Given the description of an element on the screen output the (x, y) to click on. 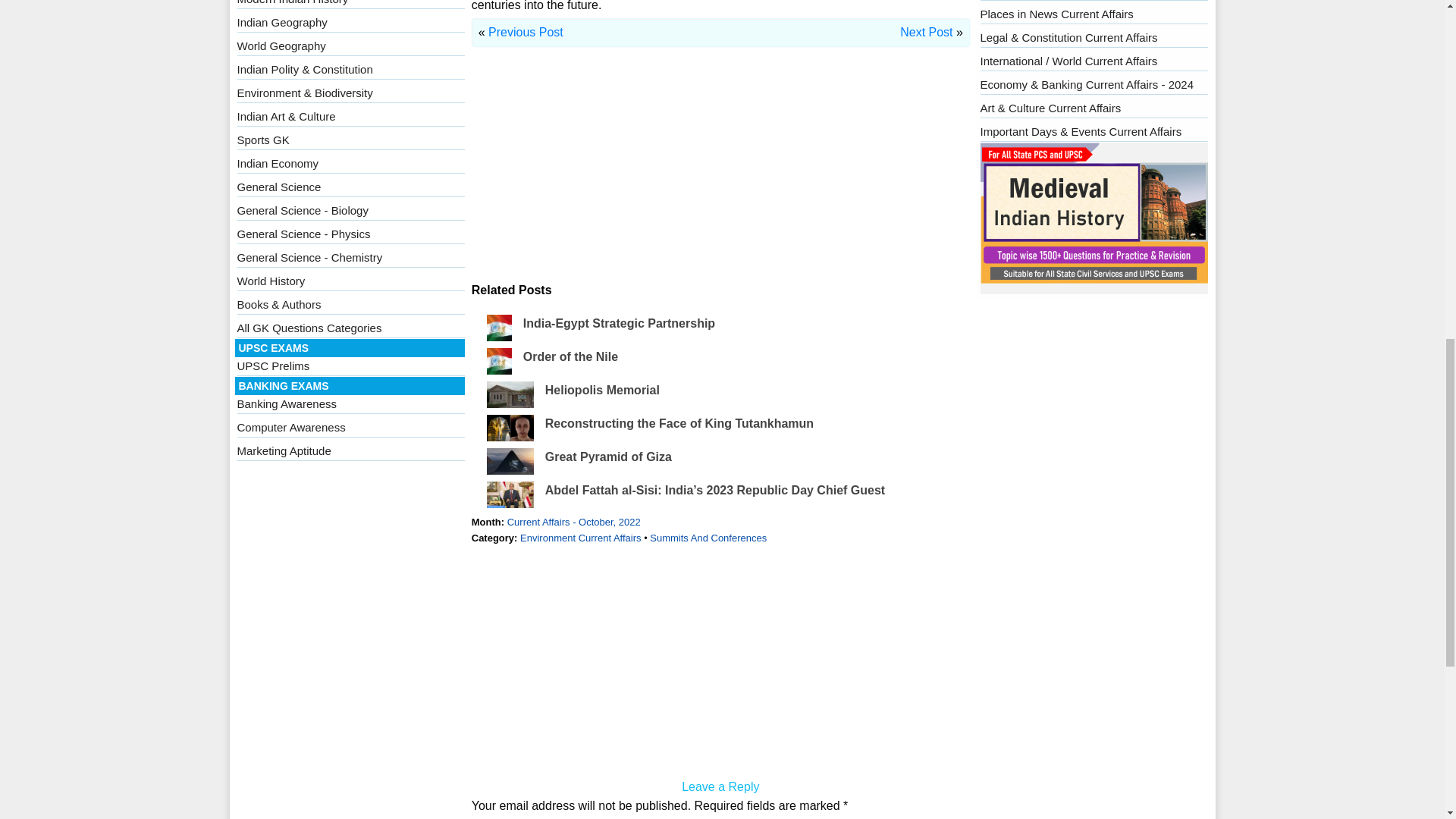
Advertisement (720, 174)
Previous Post (525, 31)
Heliopolis Memorial (601, 390)
Great Pyramid of Giza (607, 456)
Environment Current Affairs (579, 537)
Reconstructing the Face of King Tutankhamun (678, 422)
India-Egypt Strategic Partnership (618, 323)
Current Affairs - October, 2022 (573, 521)
Advertisement (720, 663)
Reconstructing the Face of King Tutankhamun (678, 422)
Order of the Nile (569, 356)
Summits And Conferences (708, 537)
Order of the Nile (569, 356)
India-Egypt Strategic Partnership (618, 323)
Next Post (925, 31)
